Given the description of an element on the screen output the (x, y) to click on. 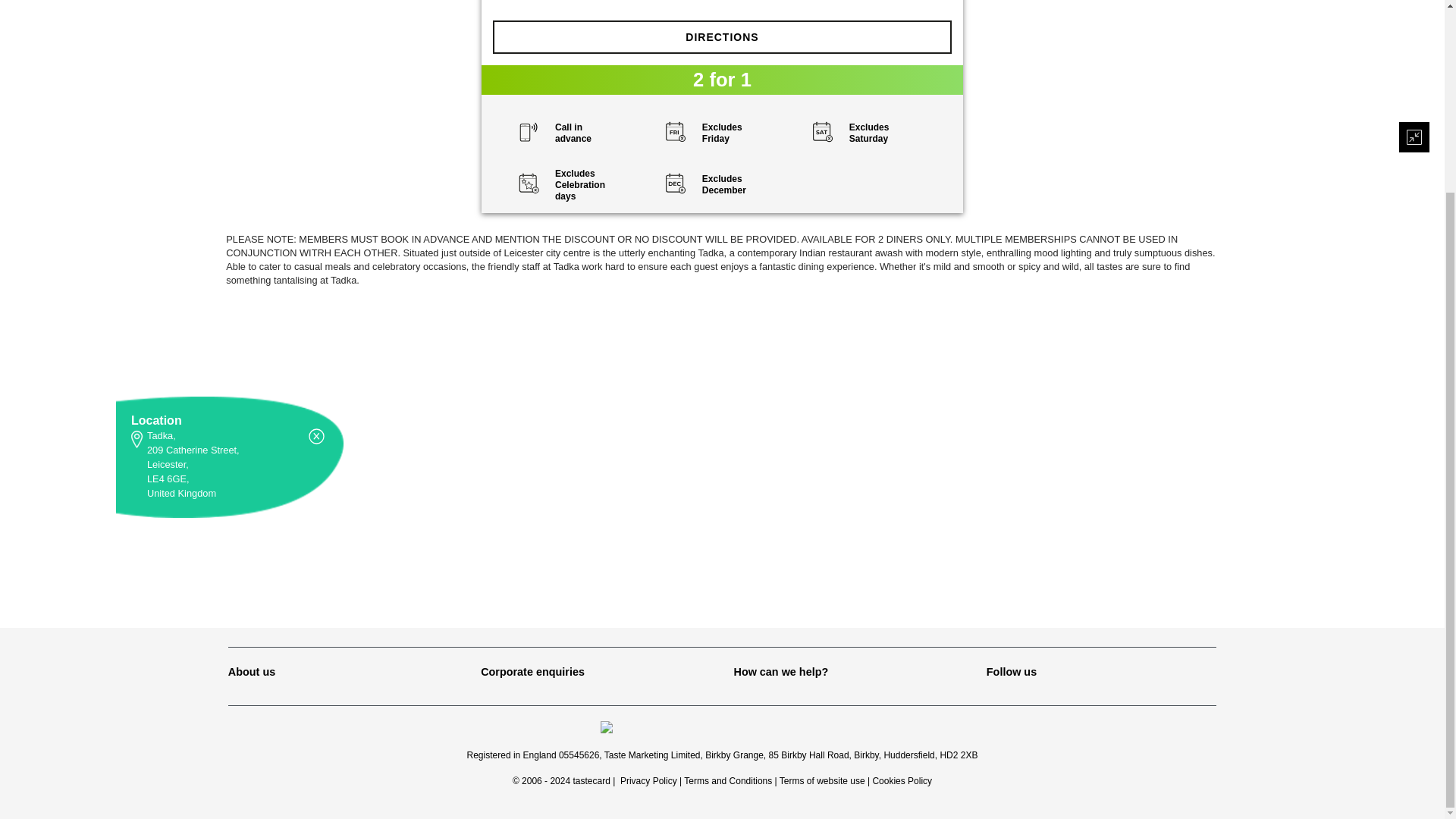
Privacy policy (648, 780)
